Given the description of an element on the screen output the (x, y) to click on. 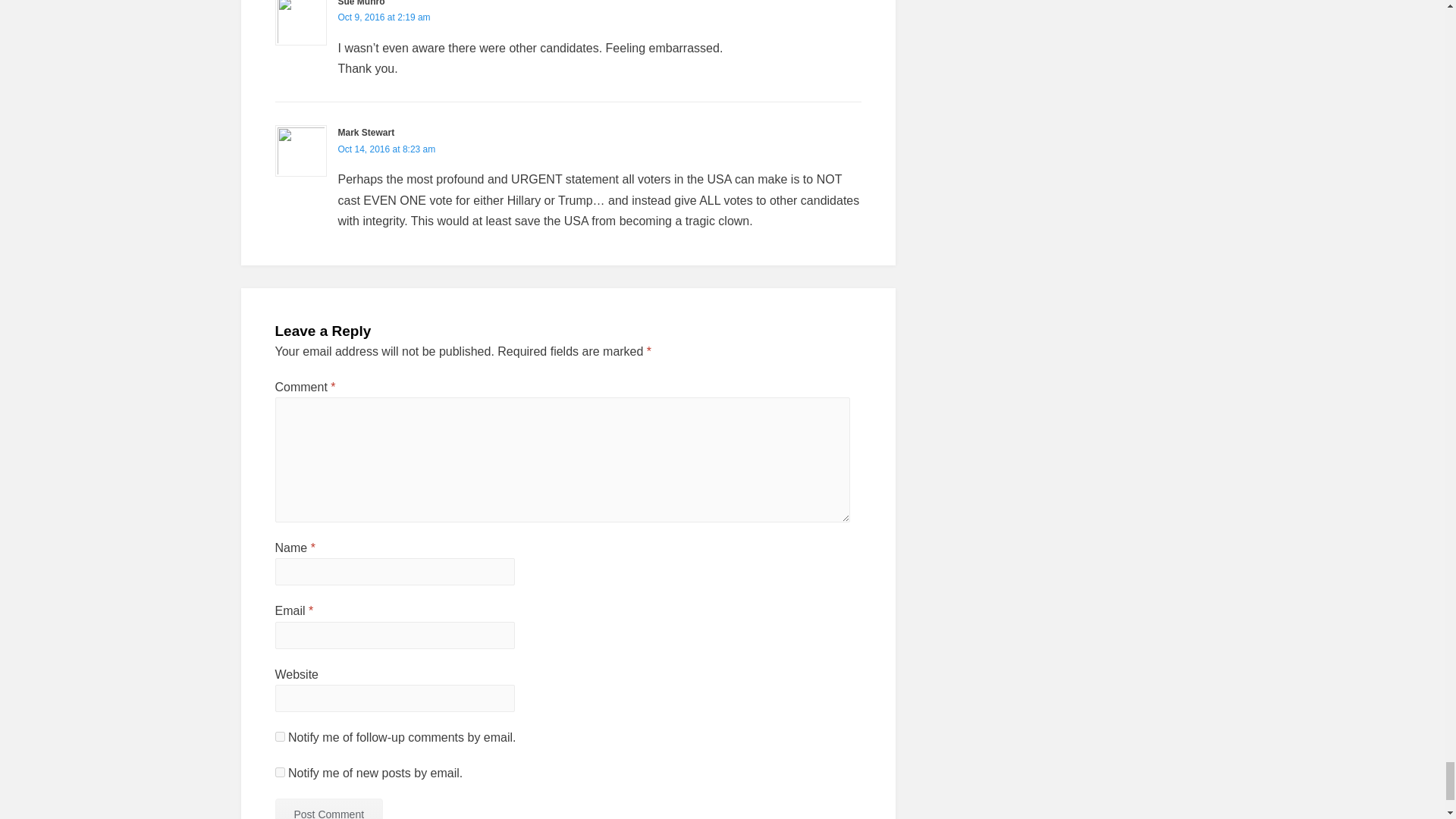
subscribe (279, 737)
subscribe (279, 772)
Post Comment (328, 808)
